Given the description of an element on the screen output the (x, y) to click on. 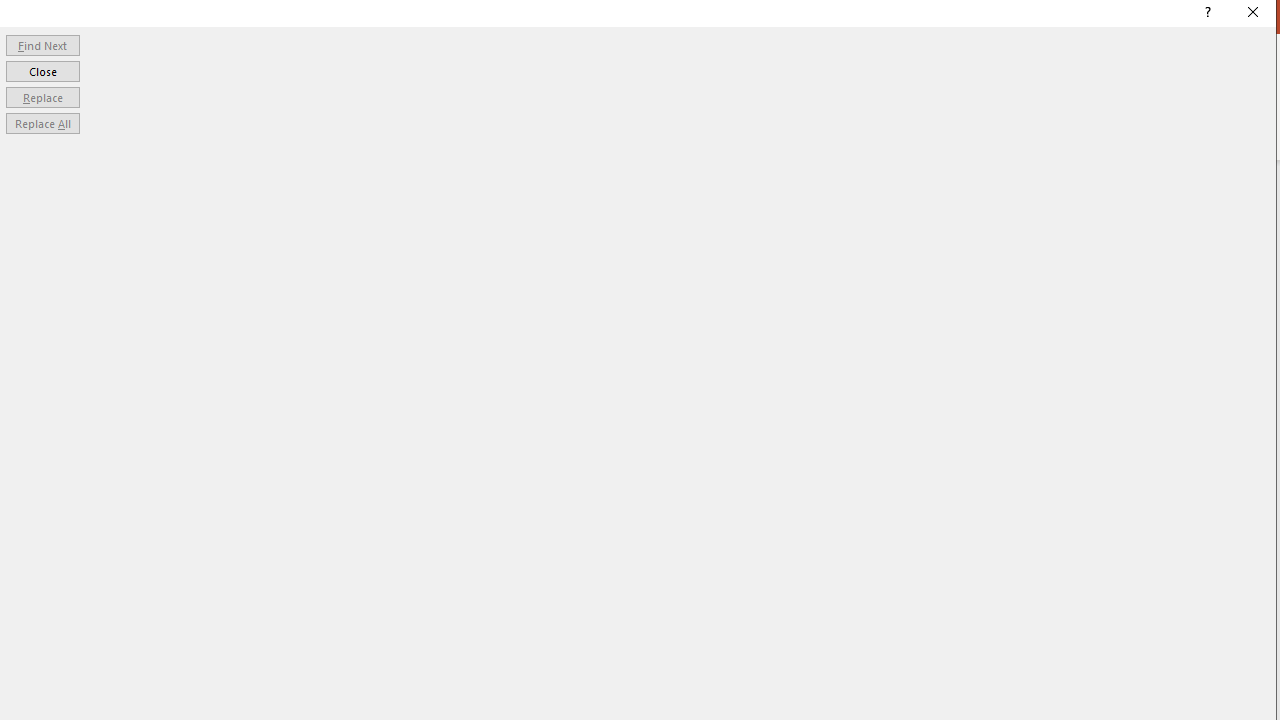
Context help (1206, 14)
Replace All (42, 123)
Replace (42, 96)
Find Next (42, 44)
